Given the description of an element on the screen output the (x, y) to click on. 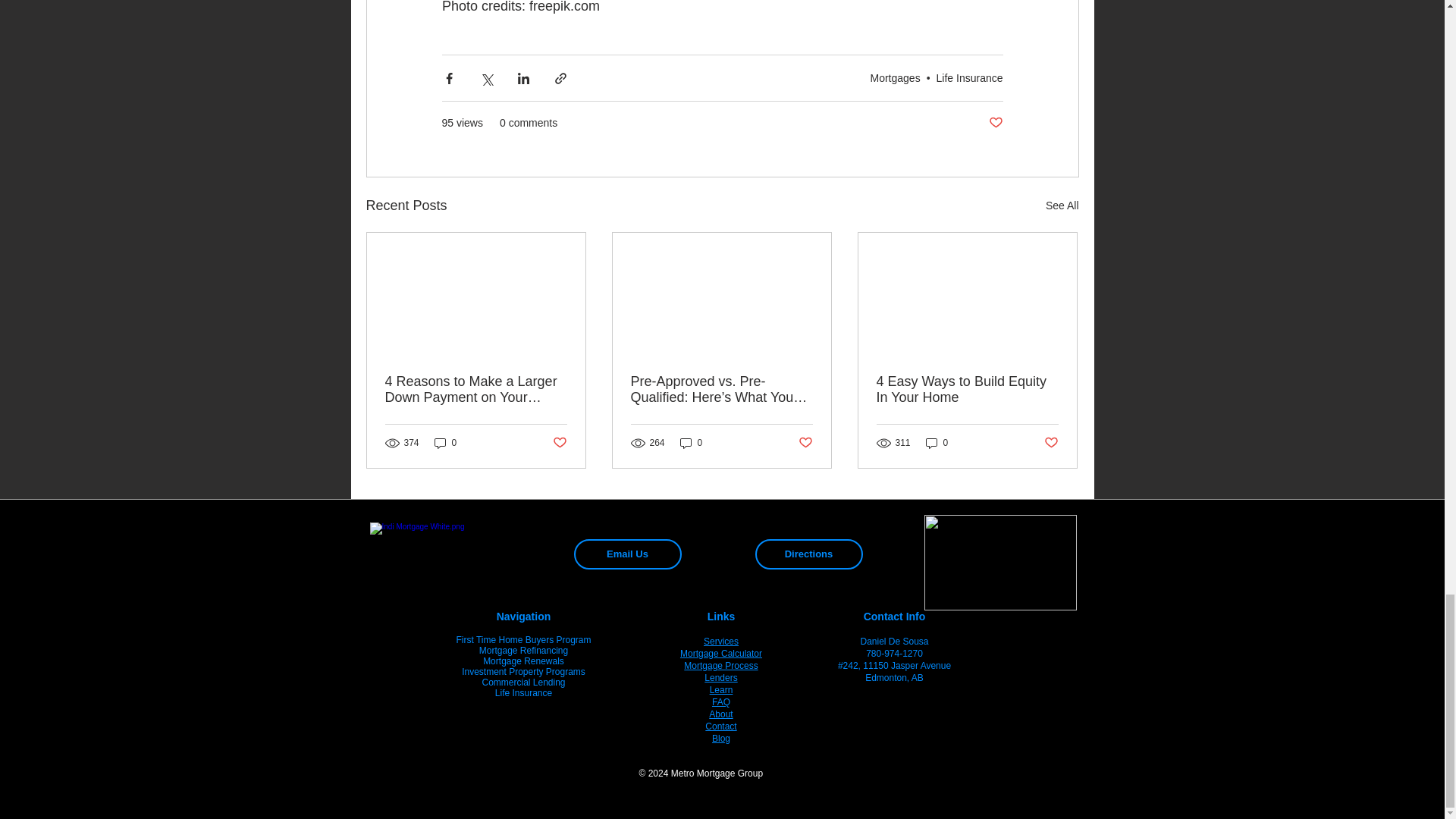
4 Reasons to Make a Larger Down Payment on Your Home (476, 389)
Transparent Logo.png (999, 562)
Post not marked as liked (1050, 442)
0 (937, 442)
Post not marked as liked (558, 442)
Post not marked as liked (804, 442)
Directions (809, 553)
0 (691, 442)
Life Insurance (969, 78)
See All (1061, 205)
